Given the description of an element on the screen output the (x, y) to click on. 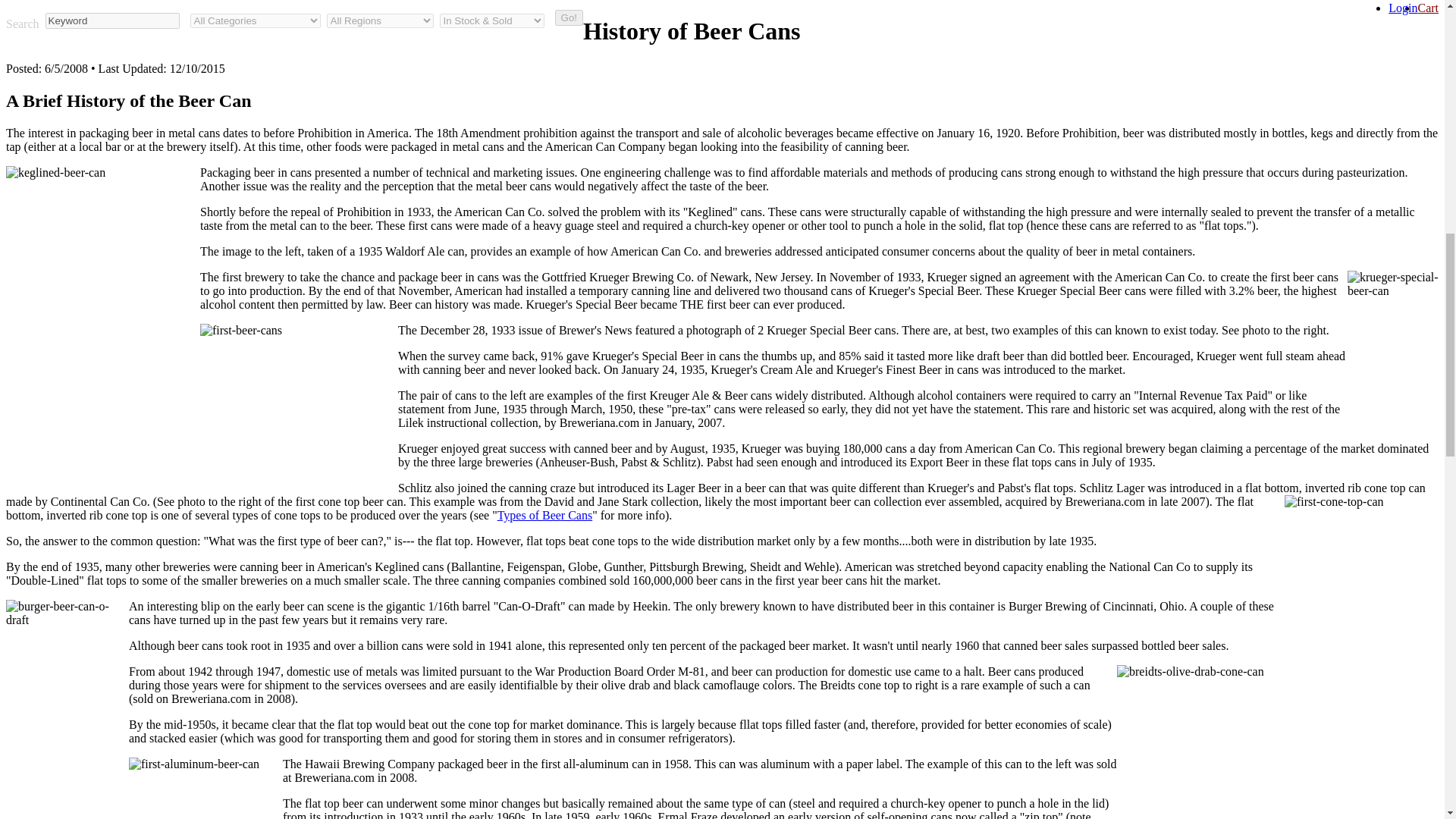
Keyword (112, 20)
WWII Era Camouflage Cone (1200, 742)
Go! (568, 17)
Early 1935:  1st Beer Can Set (298, 408)
1958:  First Aluminum Beer Can. (205, 788)
Early cans addressed consumer concerns (102, 268)
